Given the description of an element on the screen output the (x, y) to click on. 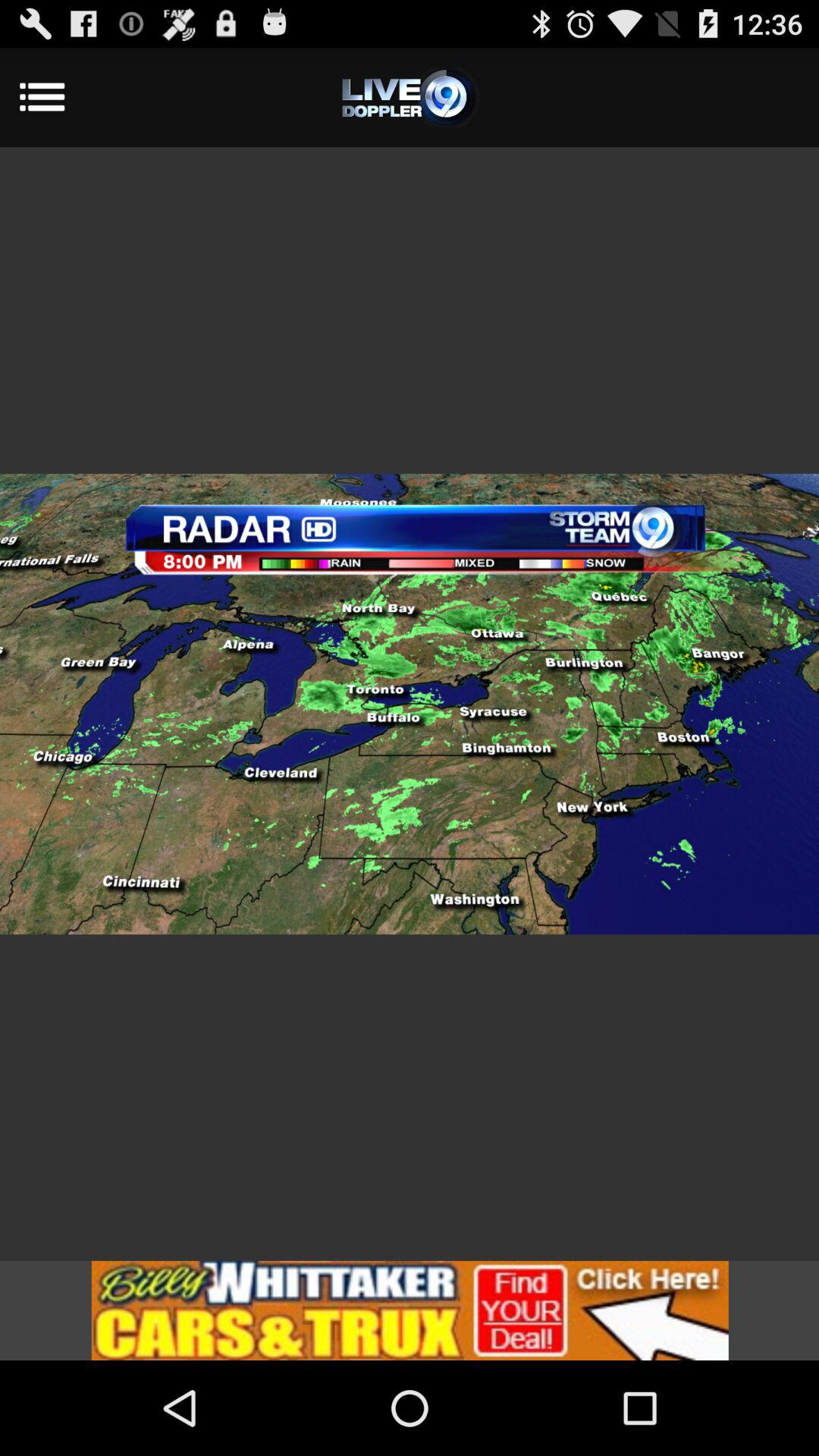
open the icon at the top (409, 97)
